Given the description of an element on the screen output the (x, y) to click on. 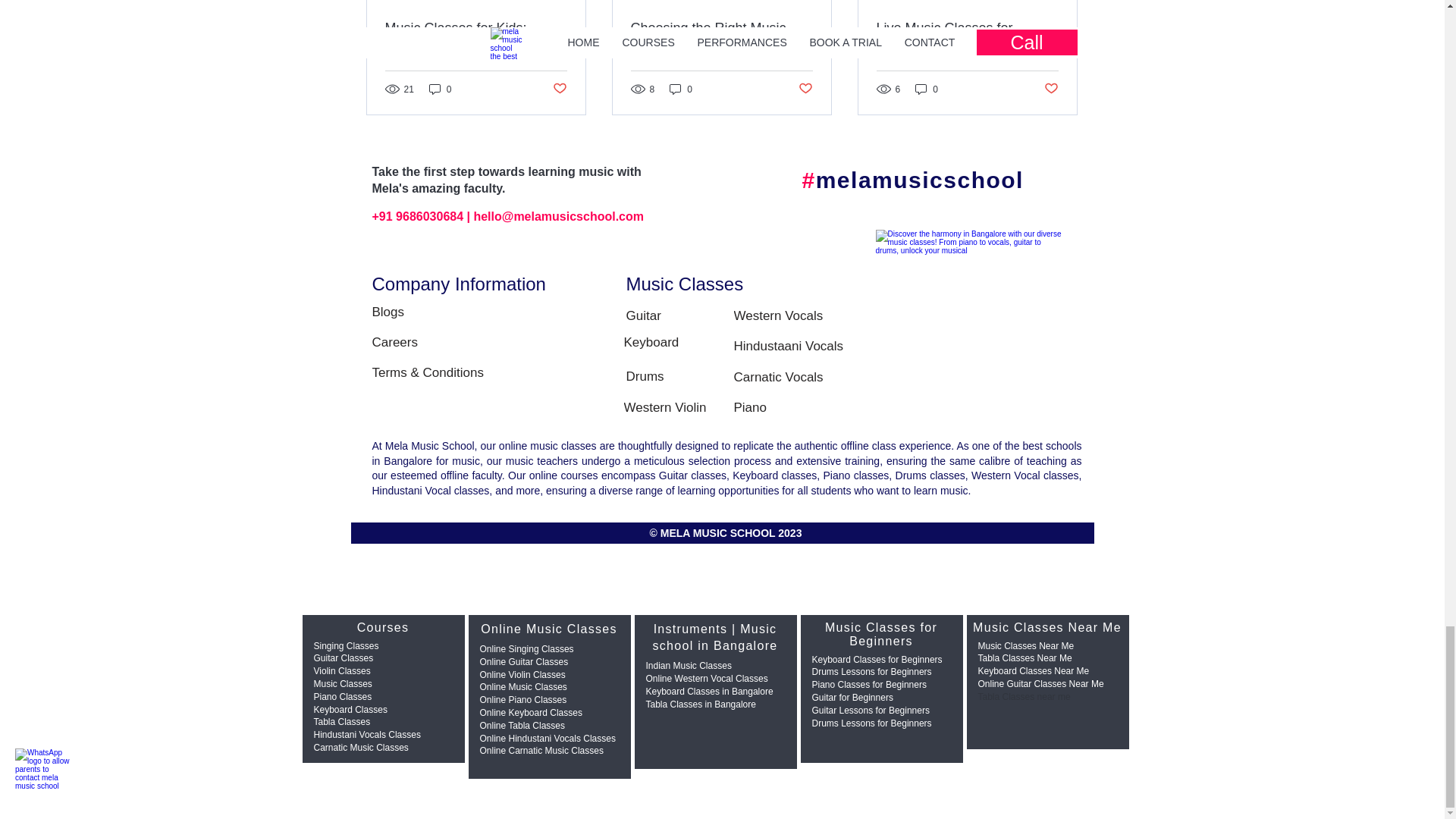
0 (681, 88)
Post not marked as liked (804, 89)
0 (926, 88)
0 (440, 88)
Post not marked as liked (1050, 89)
Post not marked as liked (558, 89)
